Given the description of an element on the screen output the (x, y) to click on. 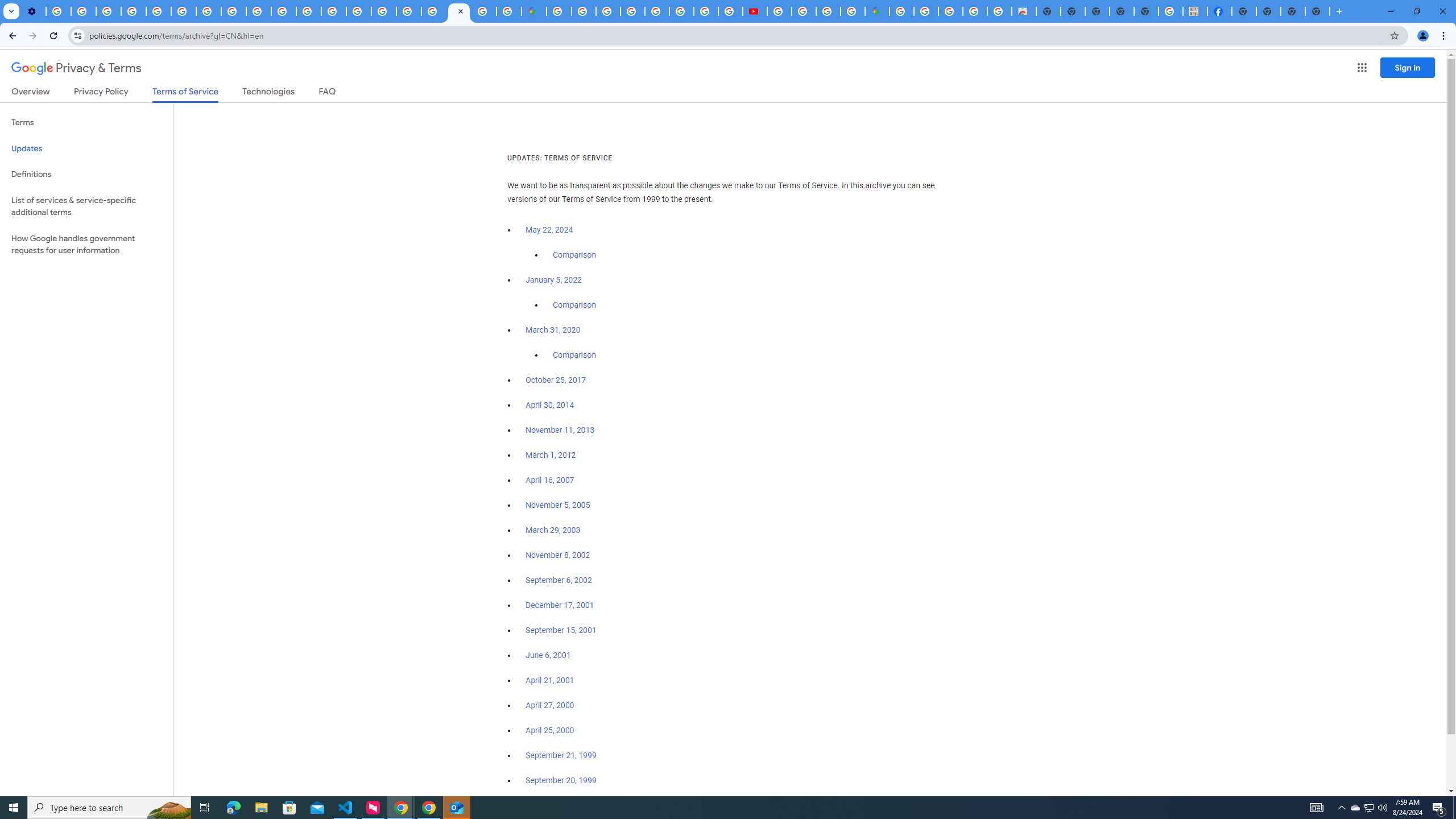
Comparison (574, 355)
Google Maps (876, 11)
September 15, 2001 (560, 629)
Learn how to find your photos - Google Photos Help (83, 11)
How Chrome protects your passwords - Google Chrome Help (778, 11)
https://scholar.google.com/ (308, 11)
Sign in - Google Accounts (583, 11)
Sign in - Google Accounts (558, 11)
List of services & service-specific additional terms (86, 206)
Privacy Help Center - Policies Help (158, 11)
